Given the description of an element on the screen output the (x, y) to click on. 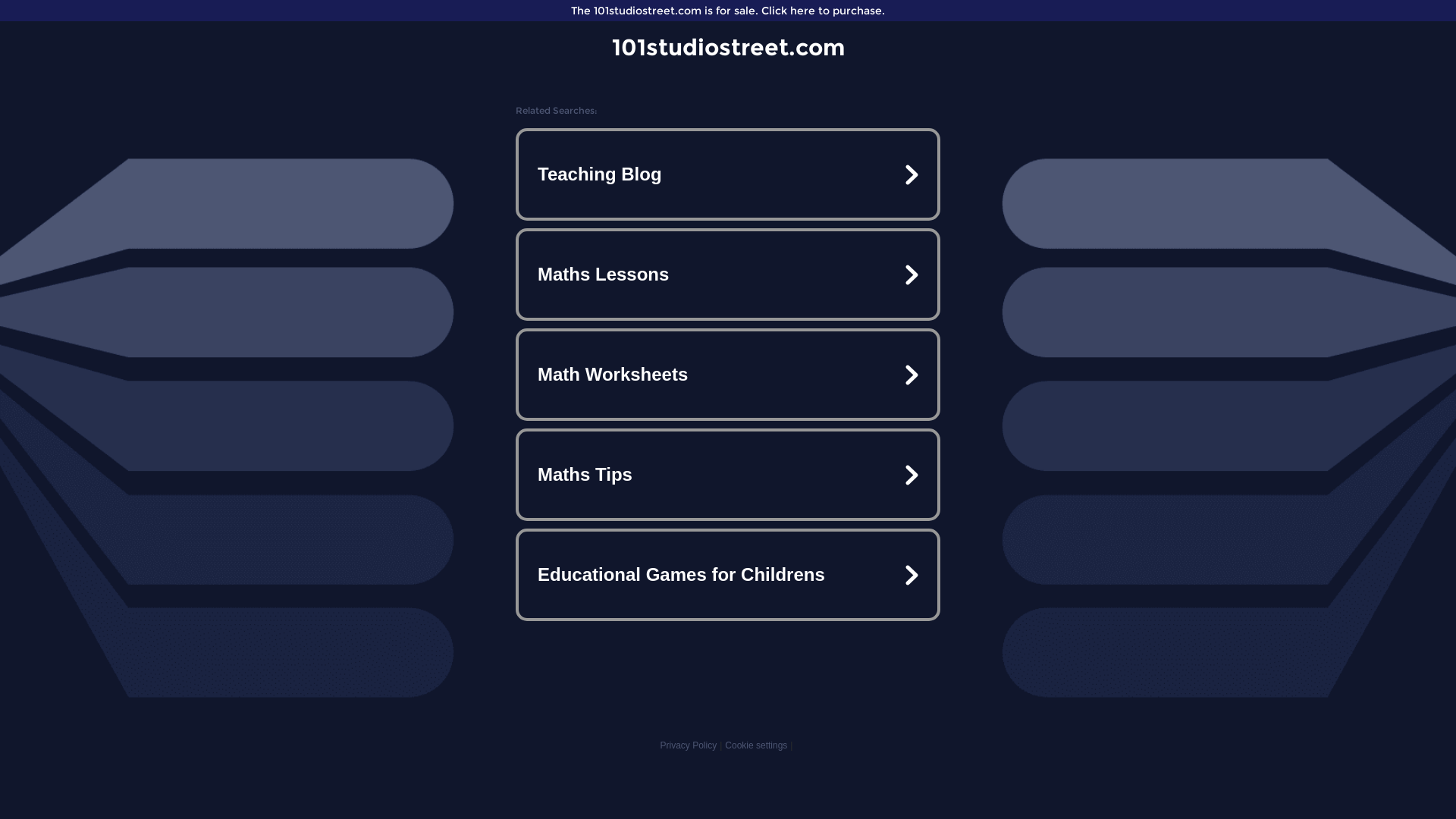
Maths Tips Element type: text (727, 474)
Math Worksheets Element type: text (727, 374)
Teaching Blog Element type: text (727, 174)
Maths Lessons Element type: text (727, 274)
Educational Games for Childrens Element type: text (727, 574)
The 101studiostreet.com is for sale. Click here to purchase. Element type: text (727, 10)
Cookie settings Element type: text (755, 745)
Privacy Policy Element type: text (687, 745)
101studiostreet.com Element type: text (727, 47)
